Given the description of an element on the screen output the (x, y) to click on. 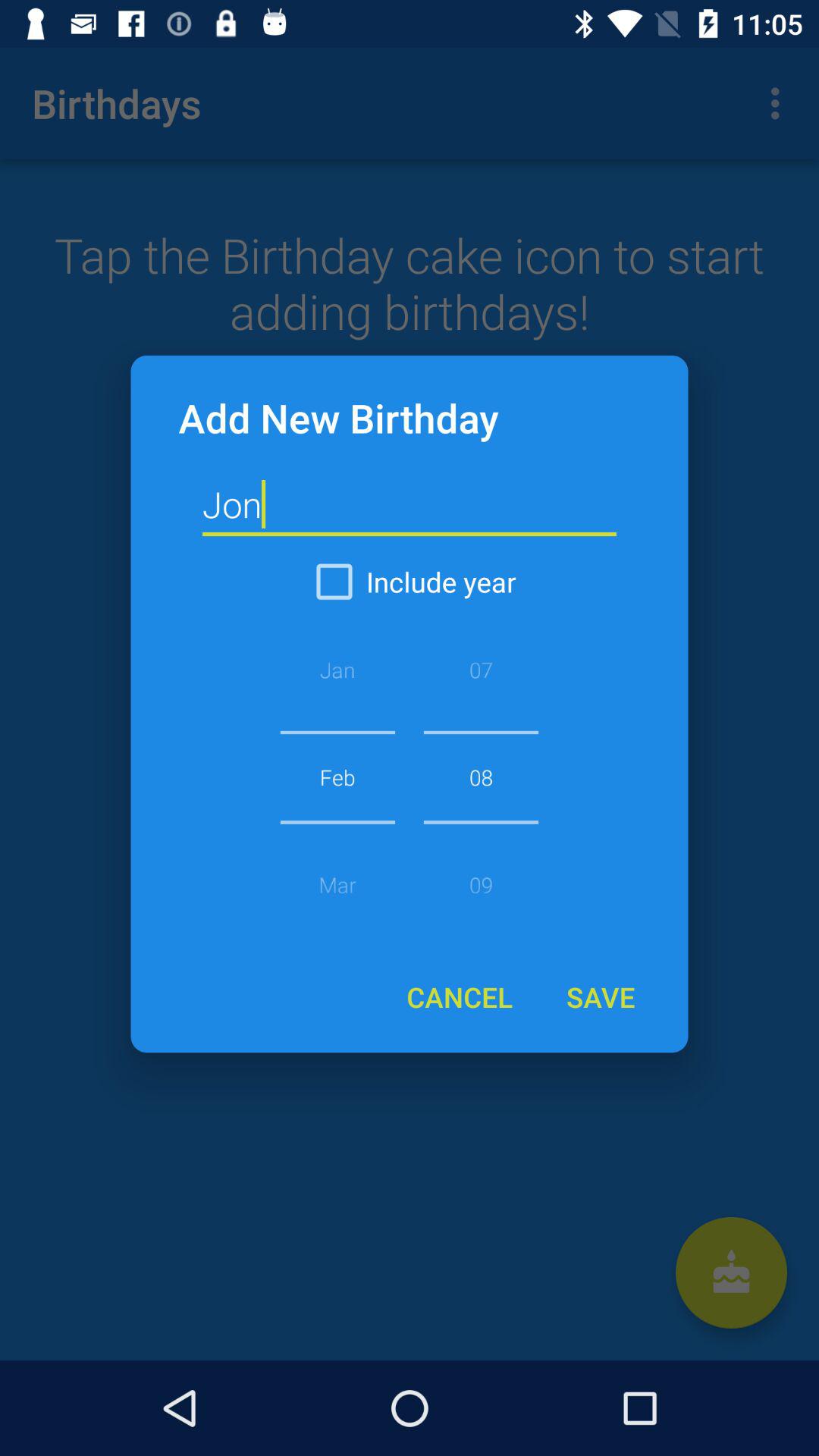
open item to the left of the save icon (459, 996)
